Given the description of an element on the screen output the (x, y) to click on. 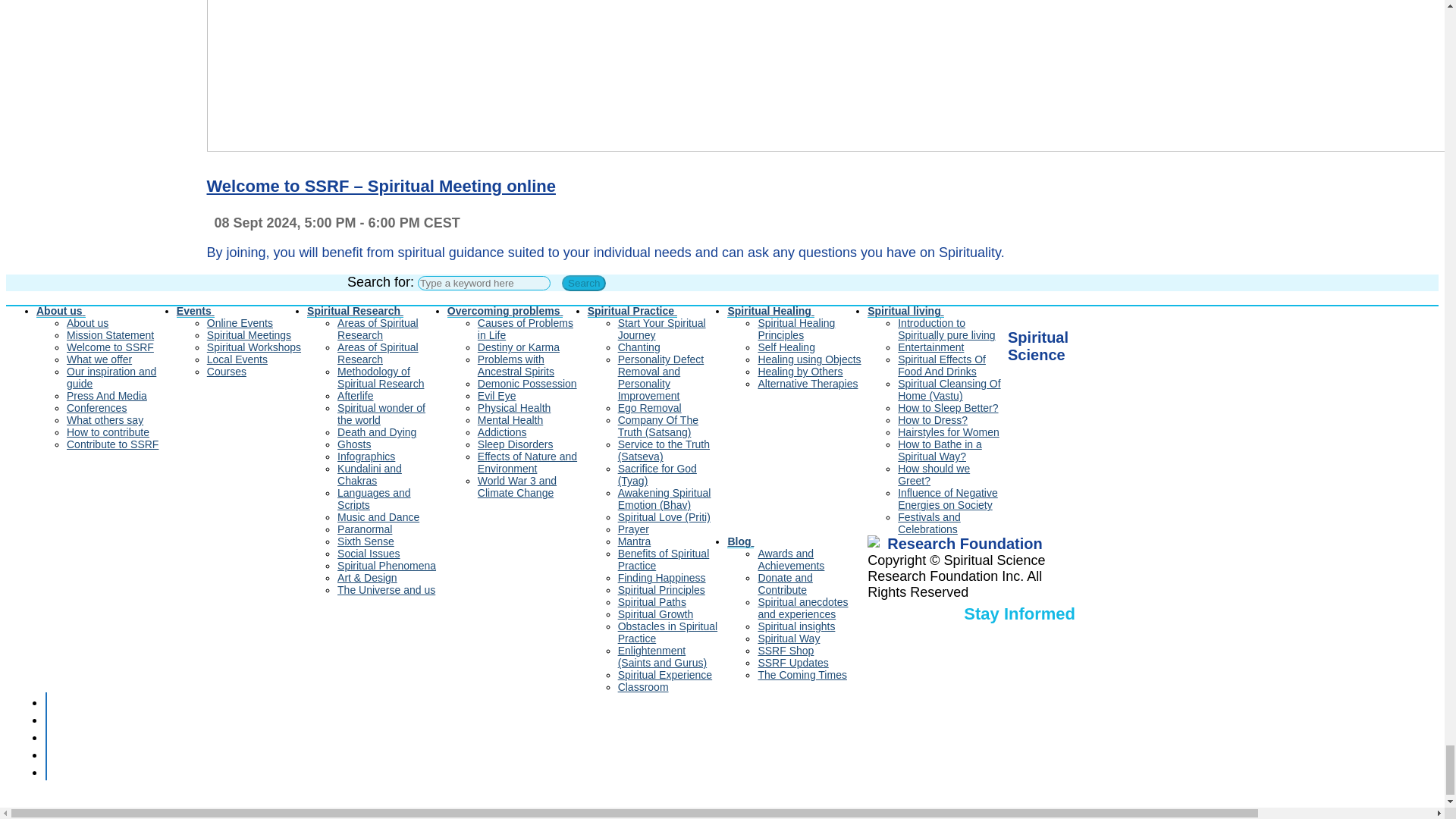
Search (583, 283)
Search for: (483, 283)
Search (583, 283)
